Given the description of an element on the screen output the (x, y) to click on. 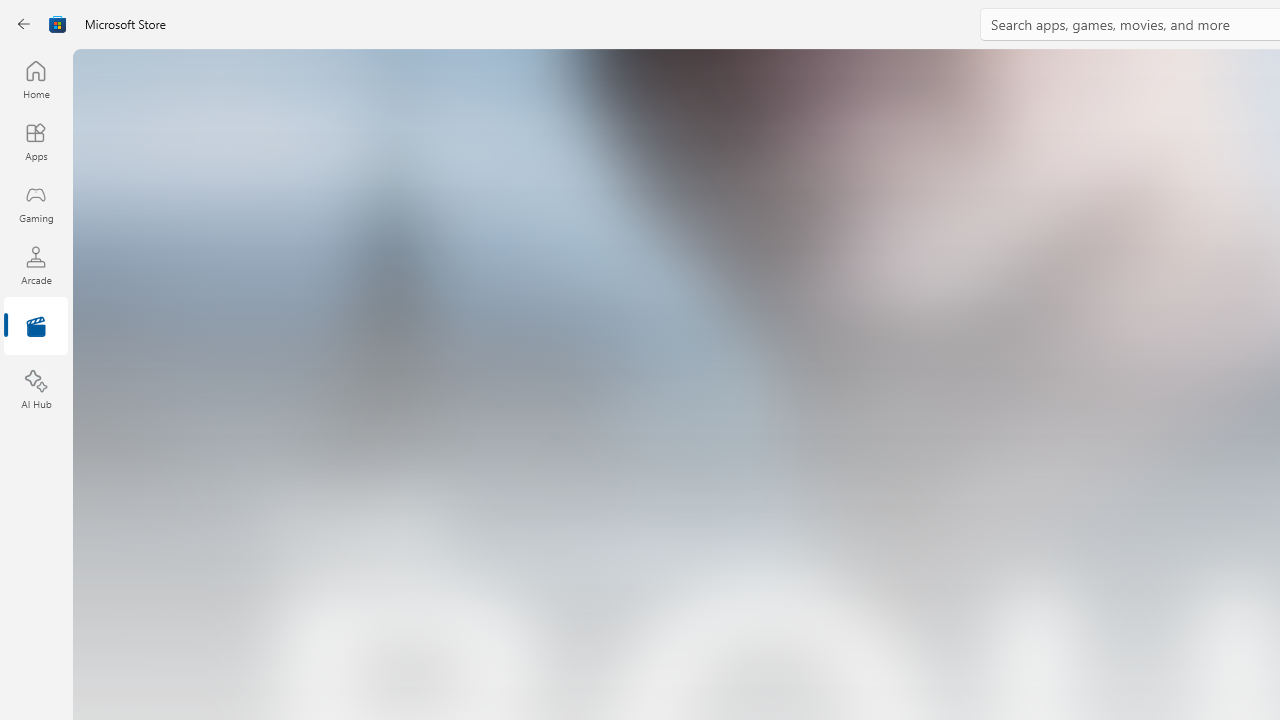
Class: Image (58, 24)
Apps (35, 141)
Arcade (35, 265)
Home (35, 79)
Entertainment (35, 327)
Gaming (35, 203)
Back (24, 24)
AI Hub (35, 390)
